Given the description of an element on the screen output the (x, y) to click on. 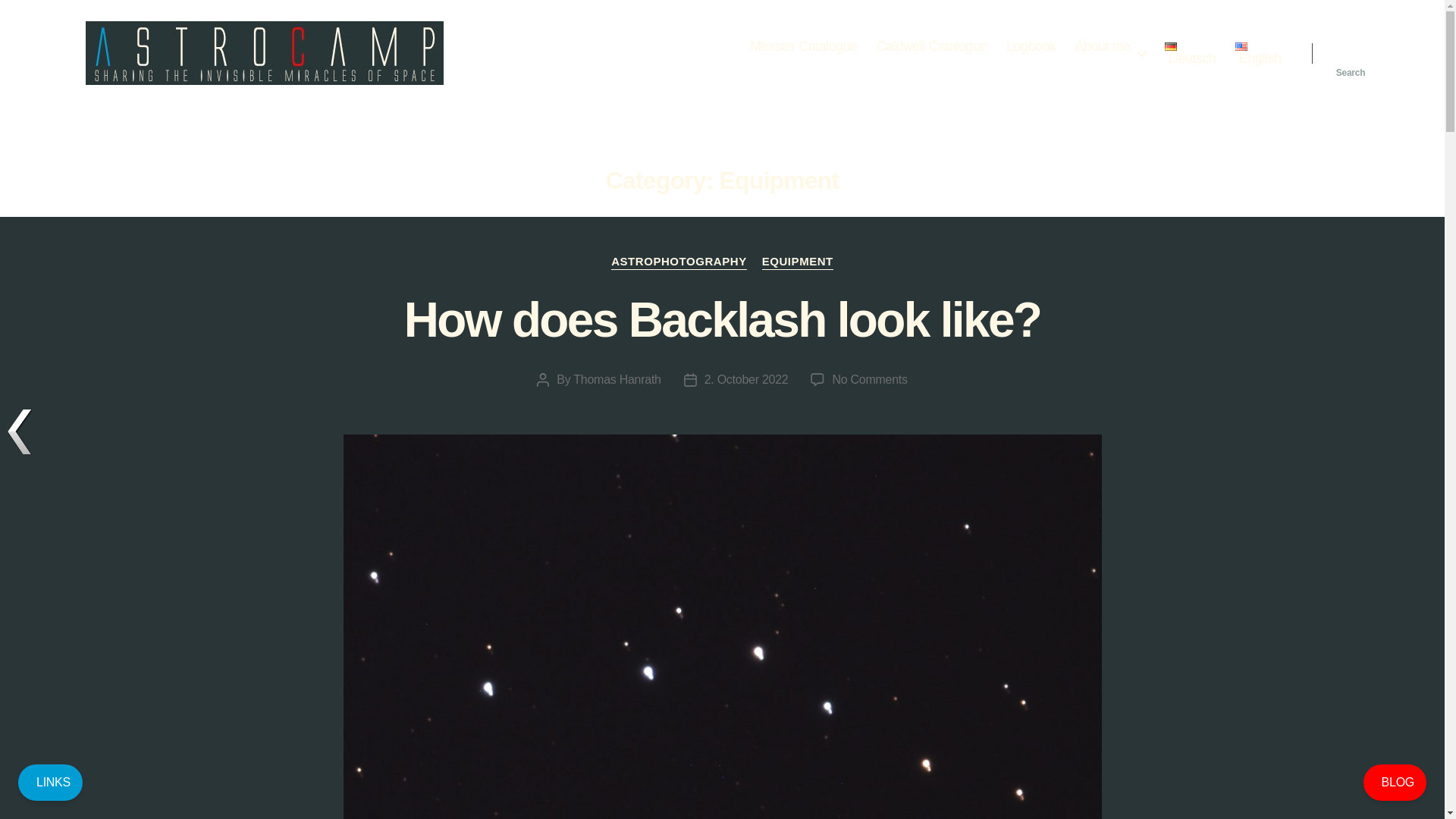
How does Backlash look like? (722, 319)
Caldwell Catalogue (931, 46)
Search (1350, 52)
ASTROPHOTOGRAPHY (678, 262)
EQUIPMENT (796, 262)
Deutsch (1189, 54)
2. October 2022 (746, 379)
English (1257, 54)
Messier Catalogue (869, 379)
Thomas Hanrath (803, 46)
Logbook (617, 379)
About me (1031, 46)
